Given the description of an element on the screen output the (x, y) to click on. 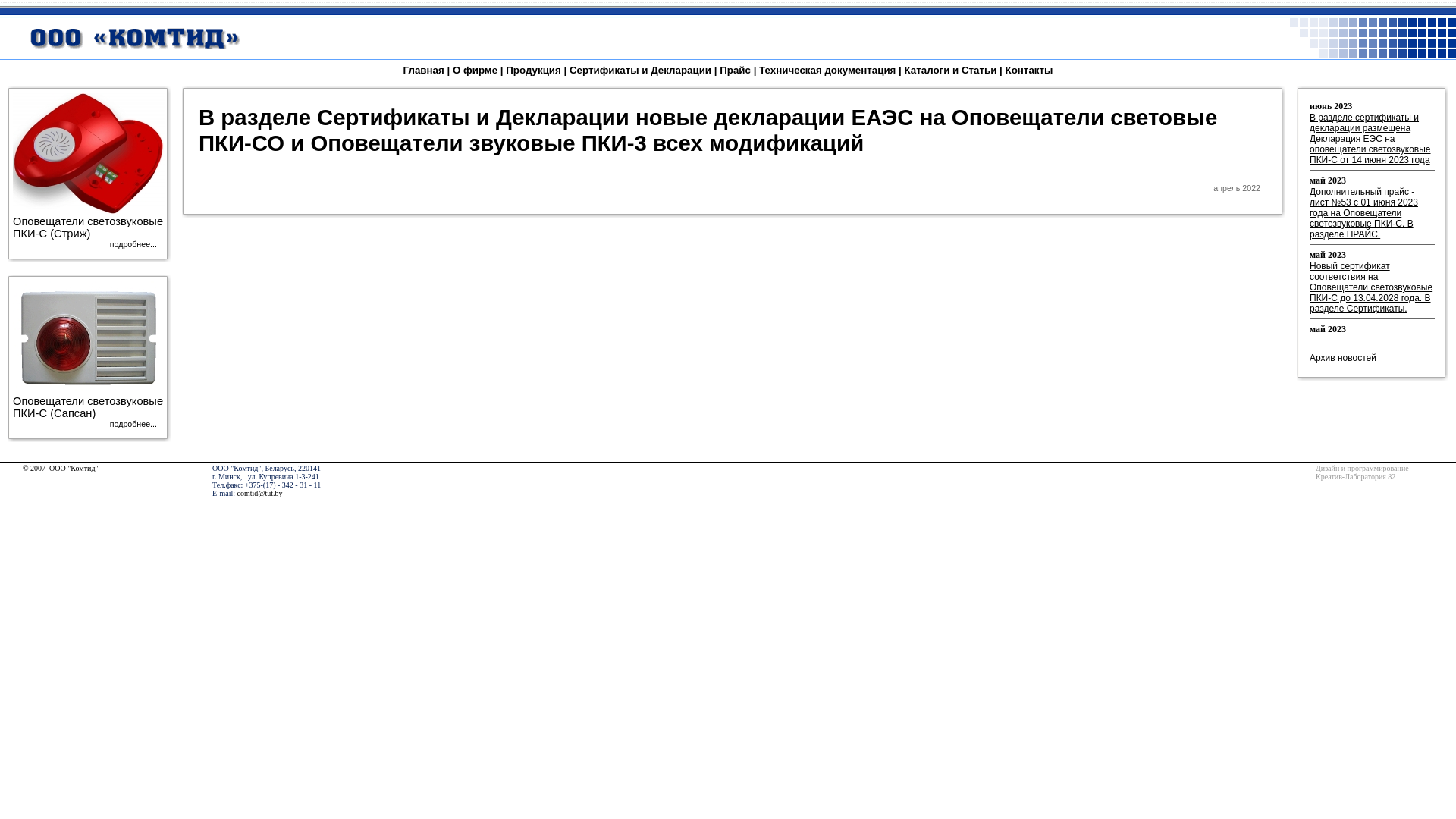
comtid@tut.by Element type: text (259, 493)
